Given the description of an element on the screen output the (x, y) to click on. 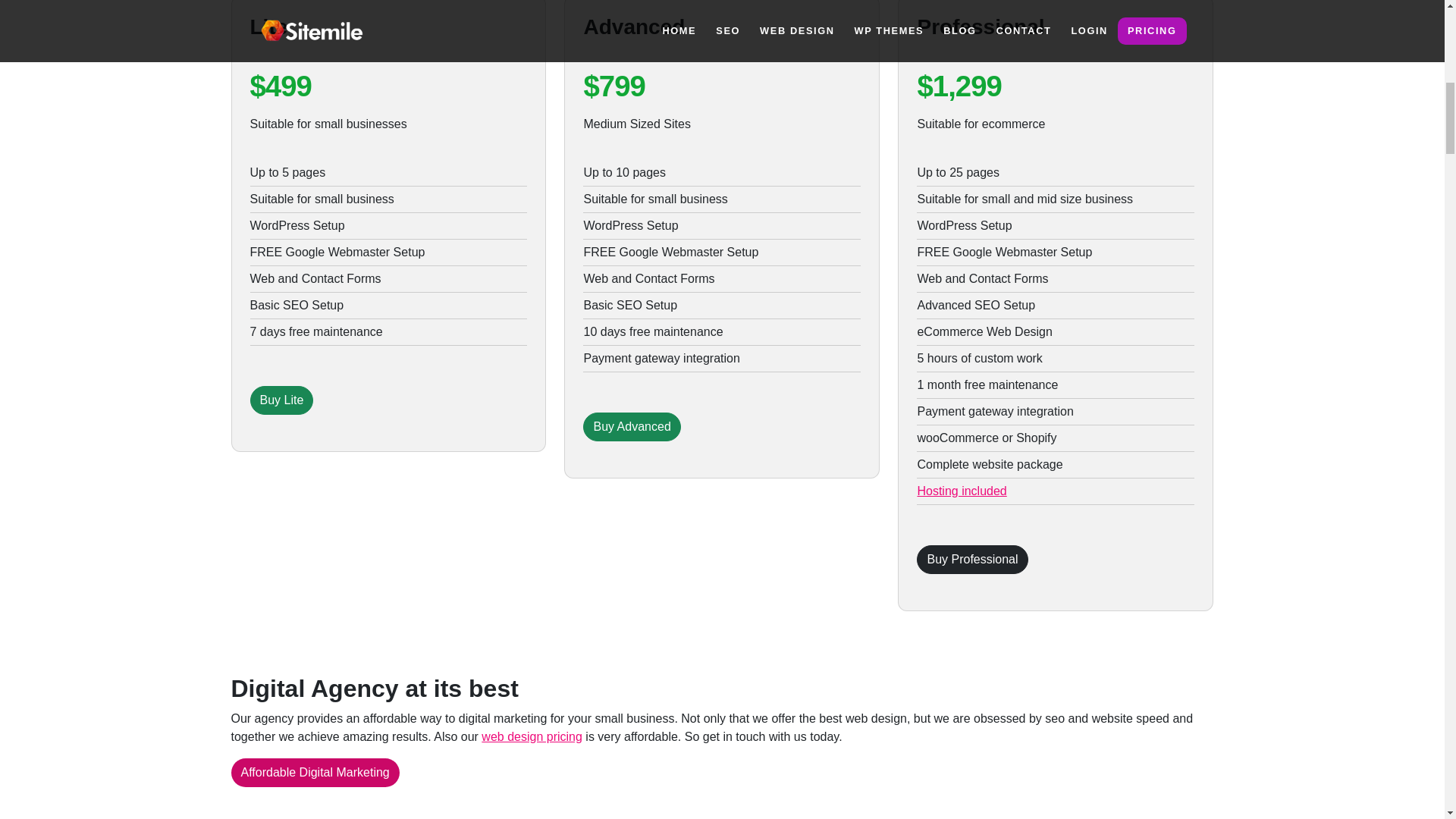
Buy Professional (972, 559)
web design pricing (531, 735)
Buy Lite (282, 399)
Hosting included (961, 490)
Affordable Digital Marketing (314, 772)
Buy Advanced (631, 426)
